Given the description of an element on the screen output the (x, y) to click on. 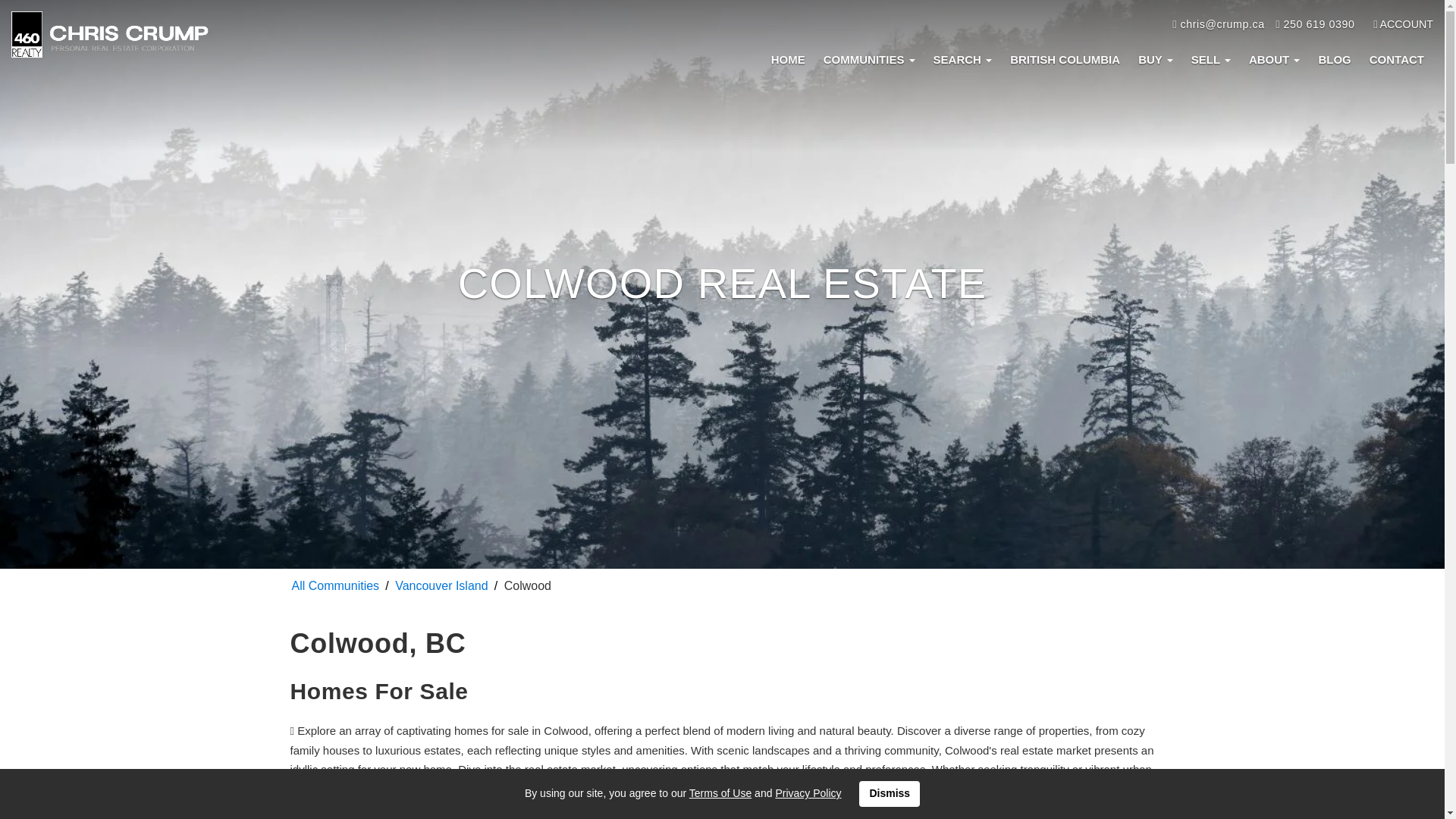
HOME (787, 59)
BLOG (1333, 59)
SELL (1211, 59)
COMMUNITIES (868, 59)
ABOUT (1274, 59)
BUY (1155, 59)
SEARCH (962, 59)
ACCOUNT (1402, 24)
BRITISH COLUMBIA (1065, 59)
CONTACT (1395, 59)
Chris Crump BC Real Estate (109, 34)
250 619 0390 (1314, 24)
All Communities (334, 585)
Vancouver Island (440, 585)
